Given the description of an element on the screen output the (x, y) to click on. 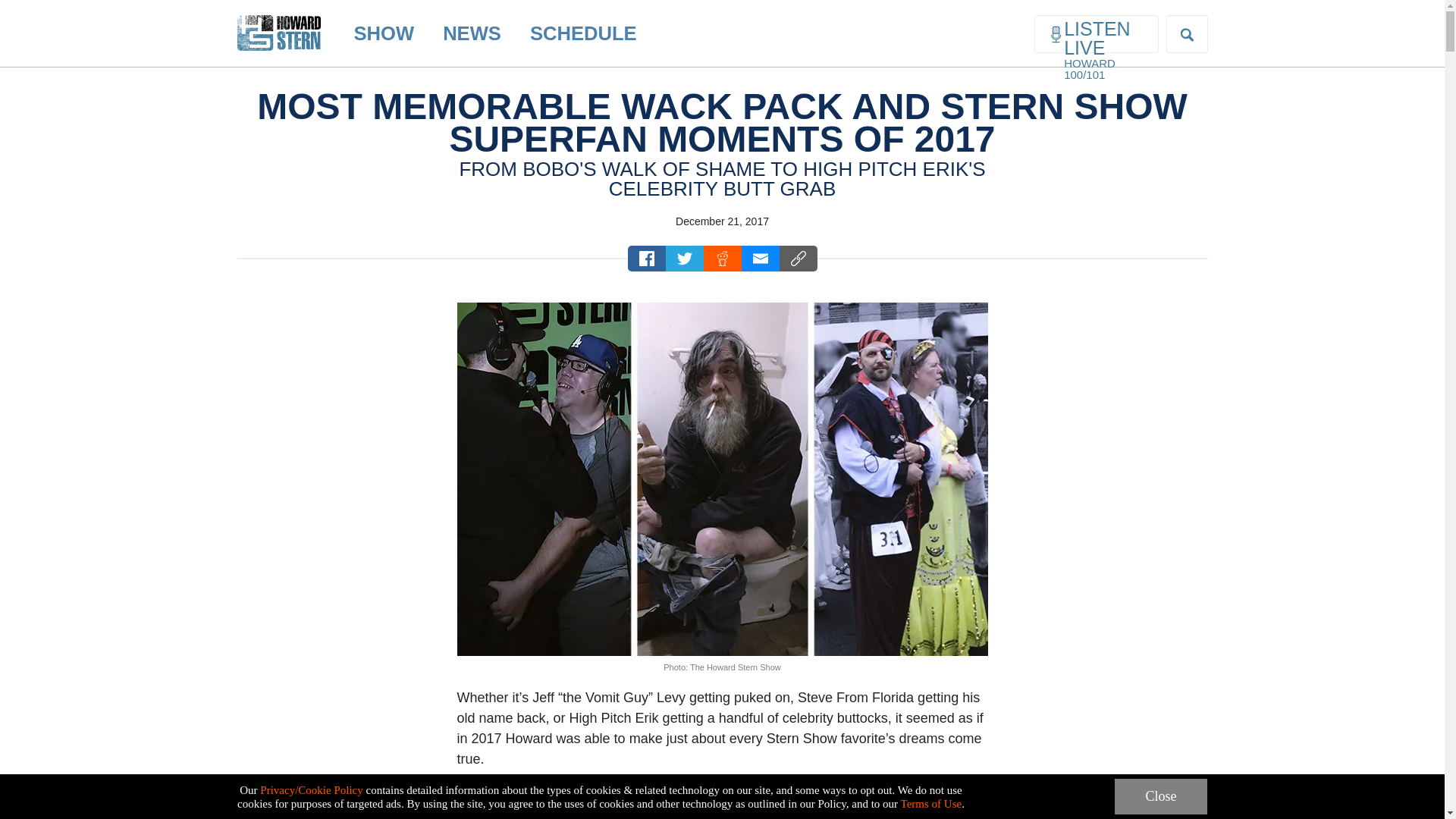
Howard Stern (277, 20)
Search (24, 9)
MAGNIFYING GLASS (1187, 34)
SCHEDULE (582, 33)
NEWS (471, 33)
SHOW (384, 33)
